Given the description of an element on the screen output the (x, y) to click on. 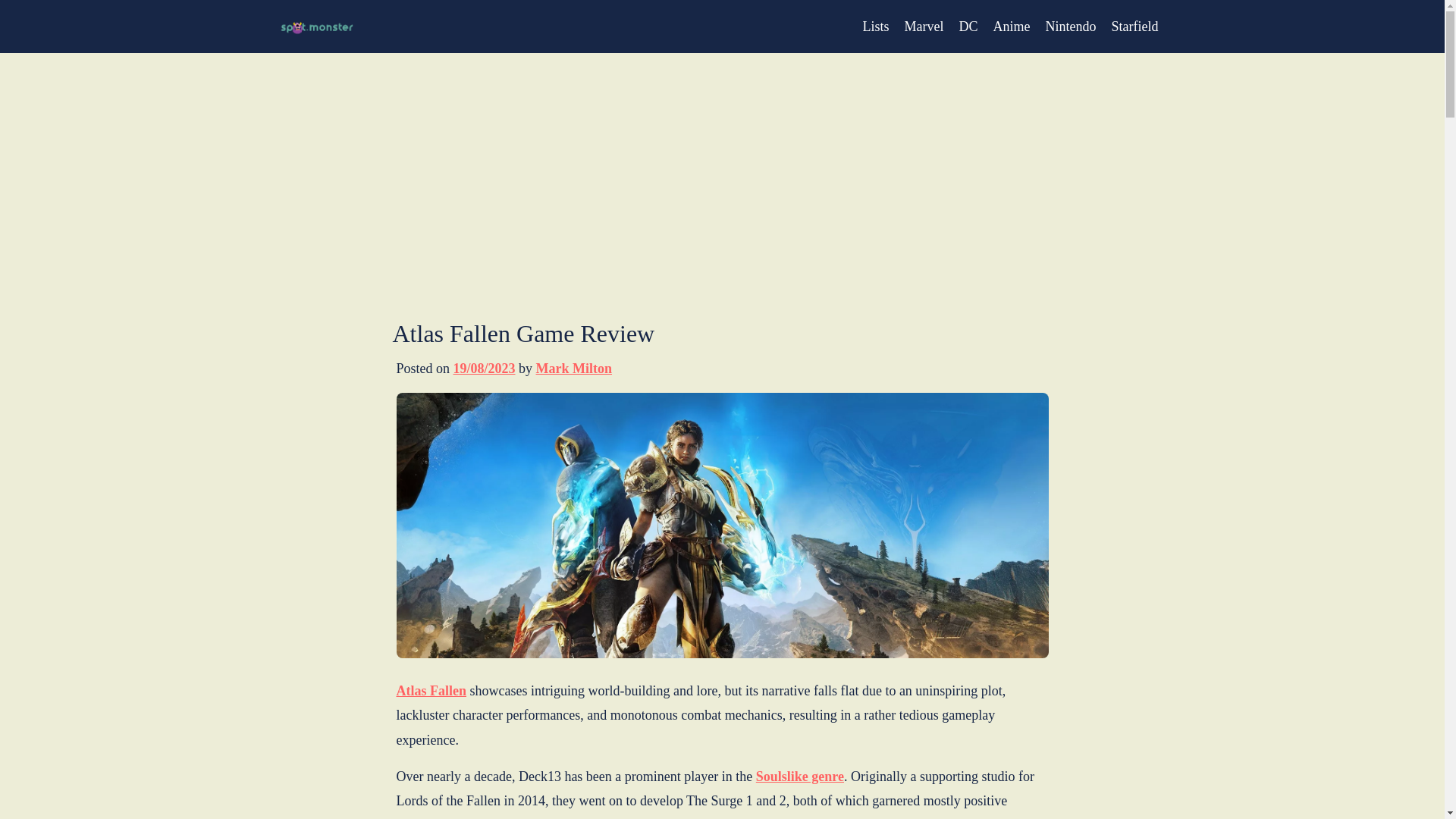
Starfield (1135, 26)
Marvel (923, 26)
Mark Milton (573, 368)
Nintendo (1070, 26)
Atlas Fallen (430, 690)
Soulslike genre (799, 776)
Anime (1011, 26)
Lists (876, 26)
